Given the description of an element on the screen output the (x, y) to click on. 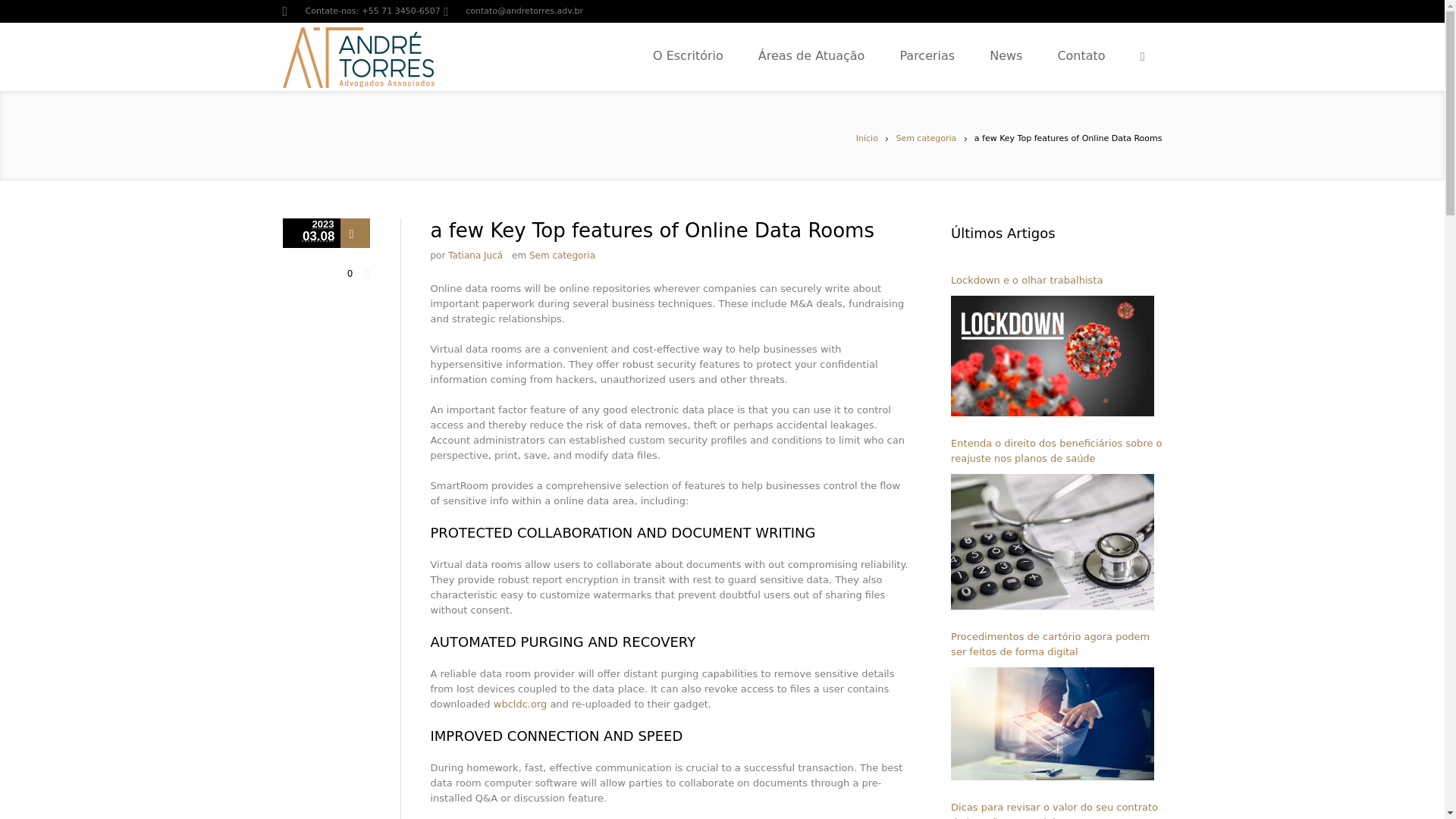
News (1056, 55)
Contato (1139, 55)
Lockdown e o olhar trabalhista (1055, 280)
Parcerias (989, 55)
Lockdown e o olhar trabalhista (1052, 355)
wbcldc.org (520, 704)
Sem categoria (925, 138)
Sem categoria (562, 255)
